Given the description of an element on the screen output the (x, y) to click on. 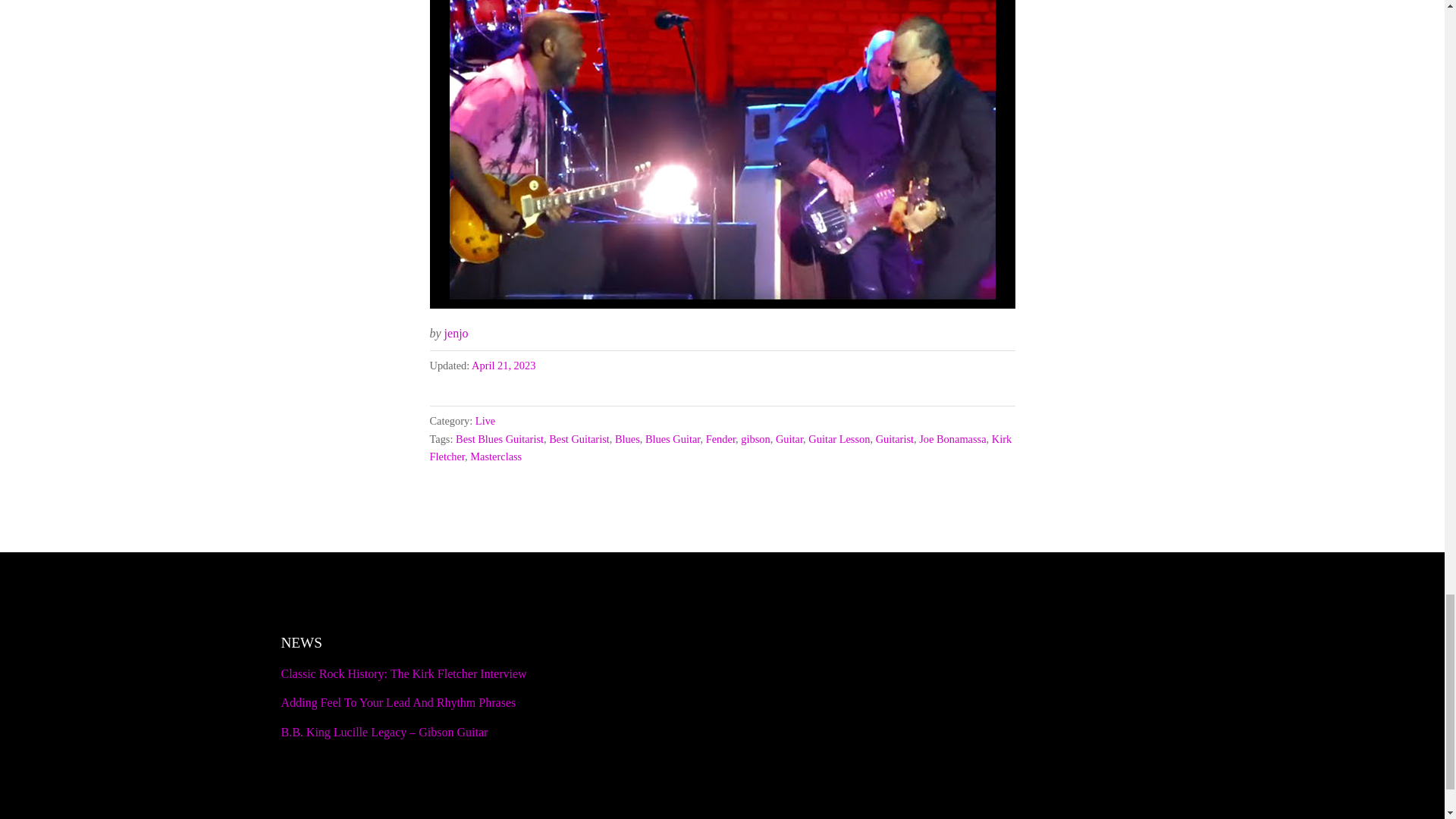
Posts by jenjo (456, 332)
4:00 PM (503, 365)
